Given the description of an element on the screen output the (x, y) to click on. 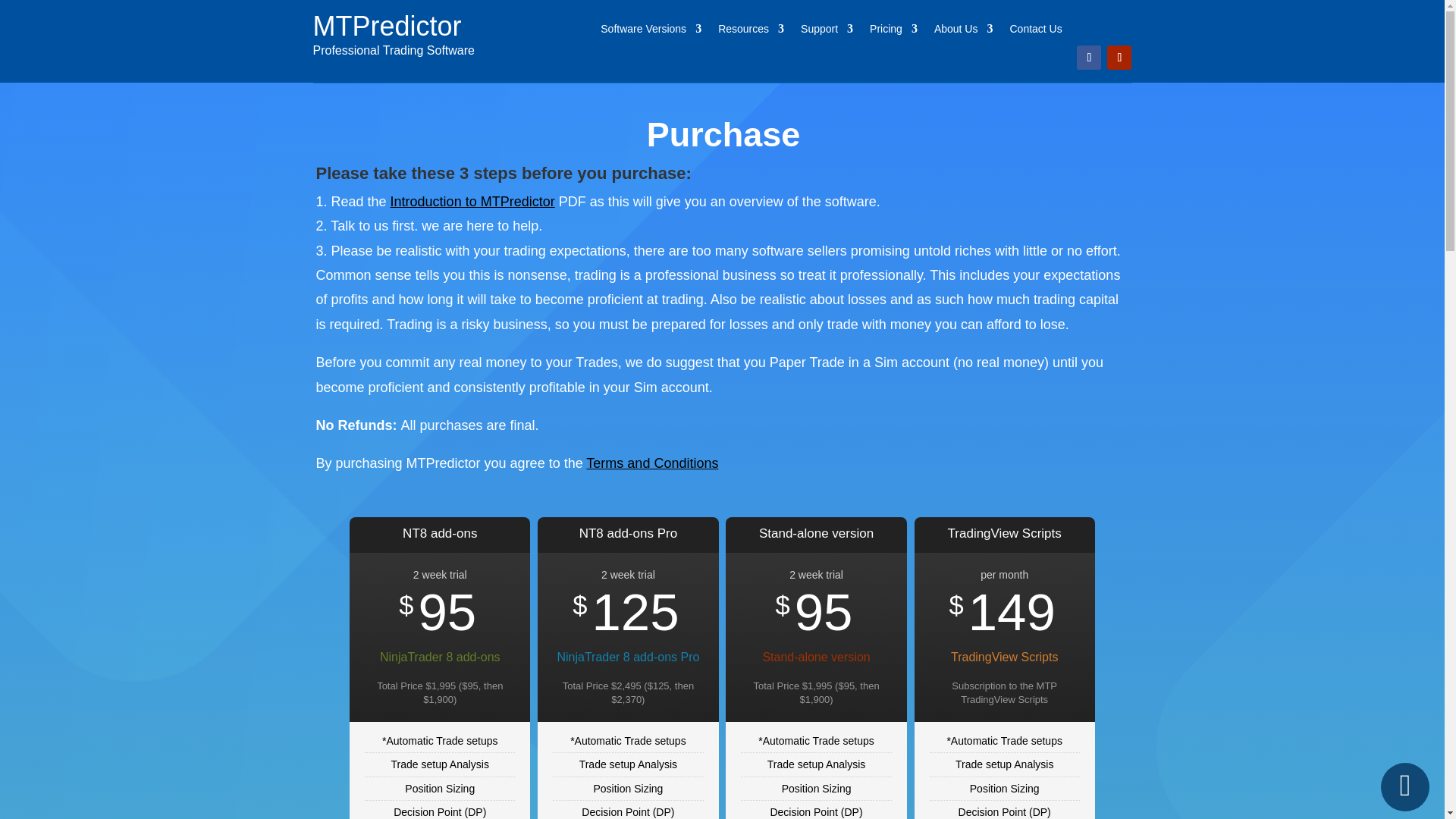
Support (826, 31)
Contact Us (1035, 31)
Pricing (893, 31)
Resources (750, 31)
Follow on Youtube (1118, 57)
Software Versions (650, 31)
About Us (963, 31)
Follow on Facebook (1088, 57)
Introduction to MTPredictor (472, 201)
